Given the description of an element on the screen output the (x, y) to click on. 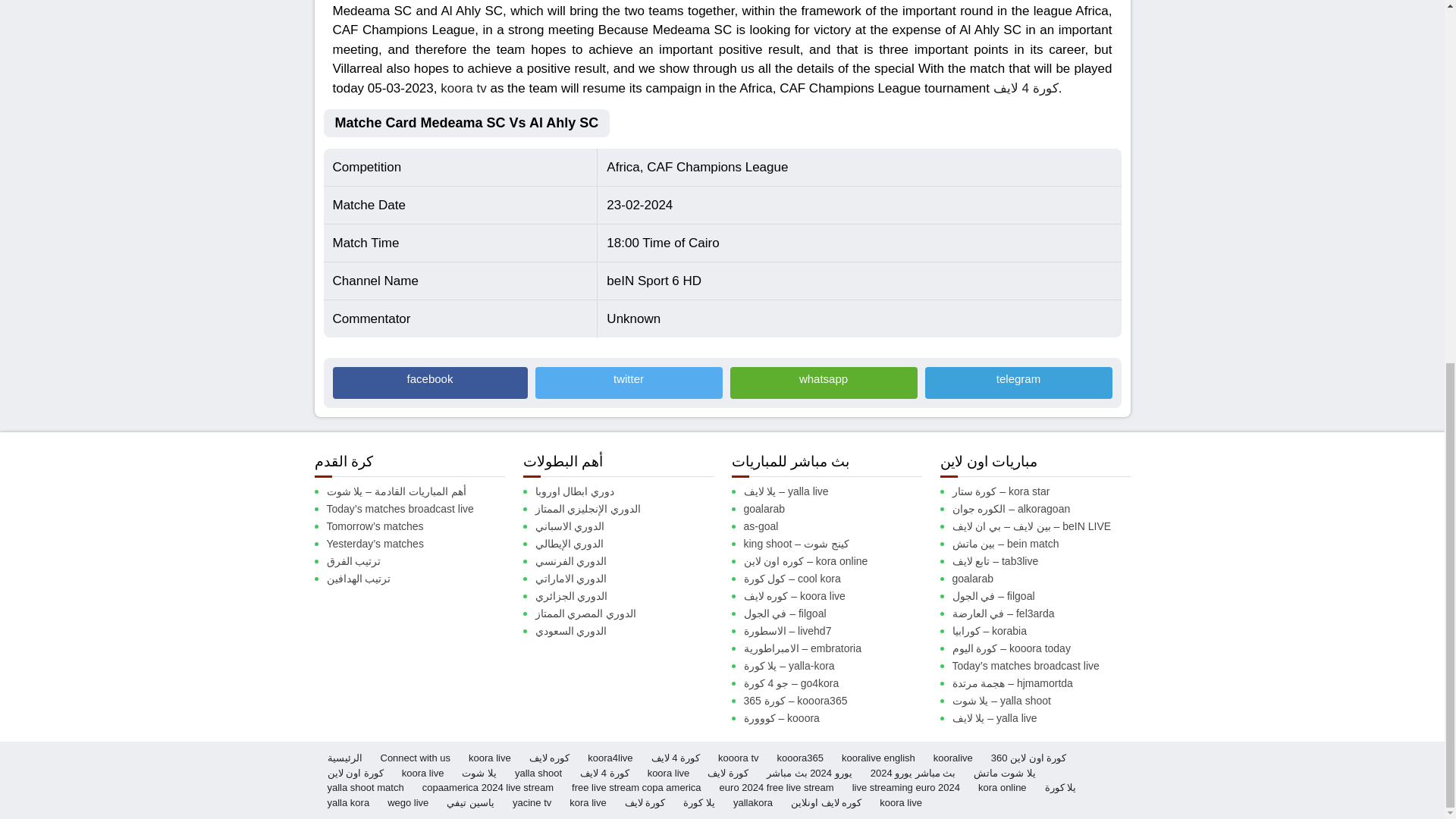
twitter (628, 382)
koora tv (463, 87)
Share to twitter (628, 382)
Share to telegram (1018, 382)
telegram (1018, 382)
Share to whatsapp (823, 382)
facebook (429, 382)
Share to facebook (429, 382)
whatsapp (823, 382)
